Given the description of an element on the screen output the (x, y) to click on. 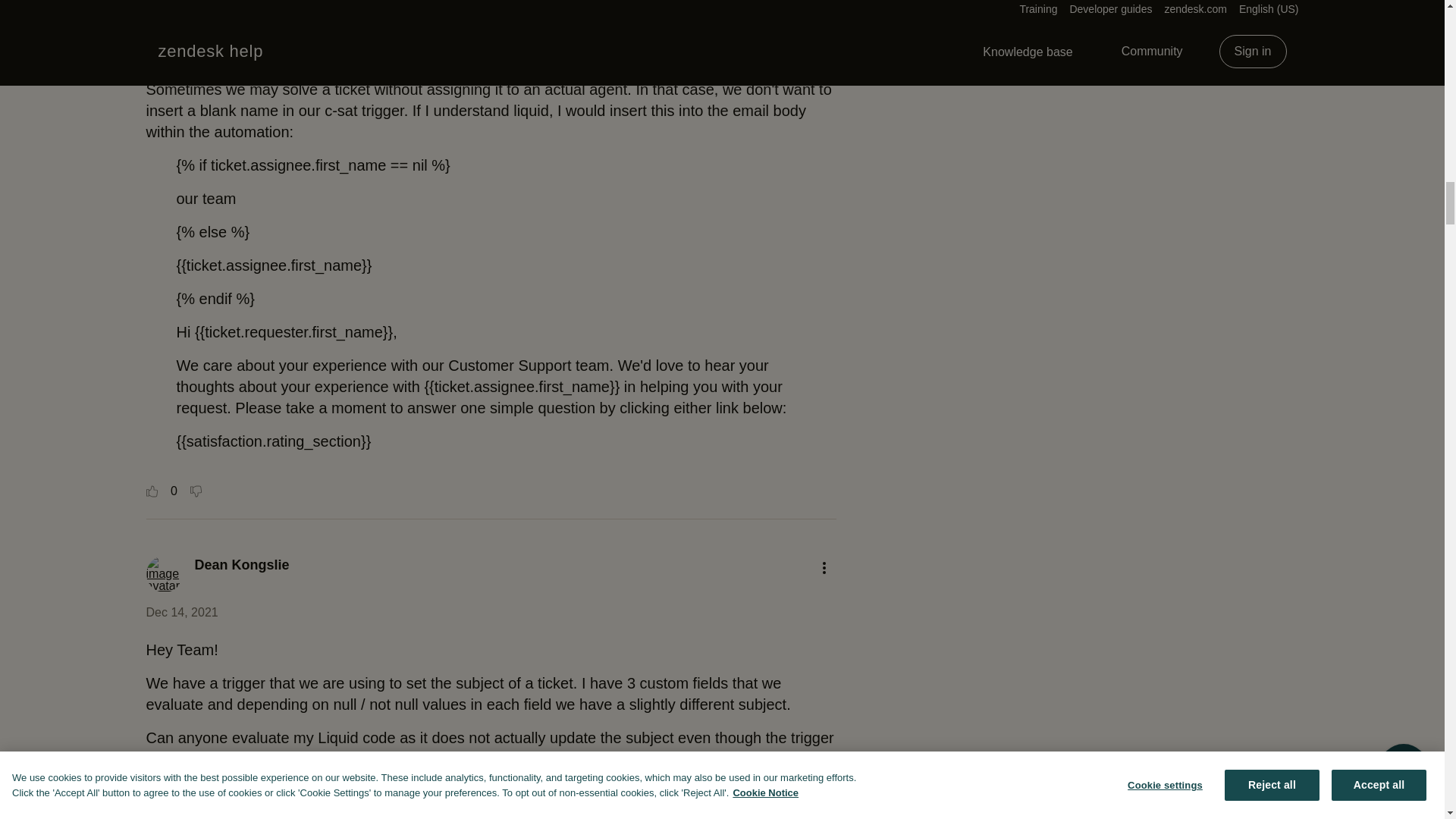
Oct 29, 2021 (180, 51)
Dec 14, 2021 (180, 612)
